Given the description of an element on the screen output the (x, y) to click on. 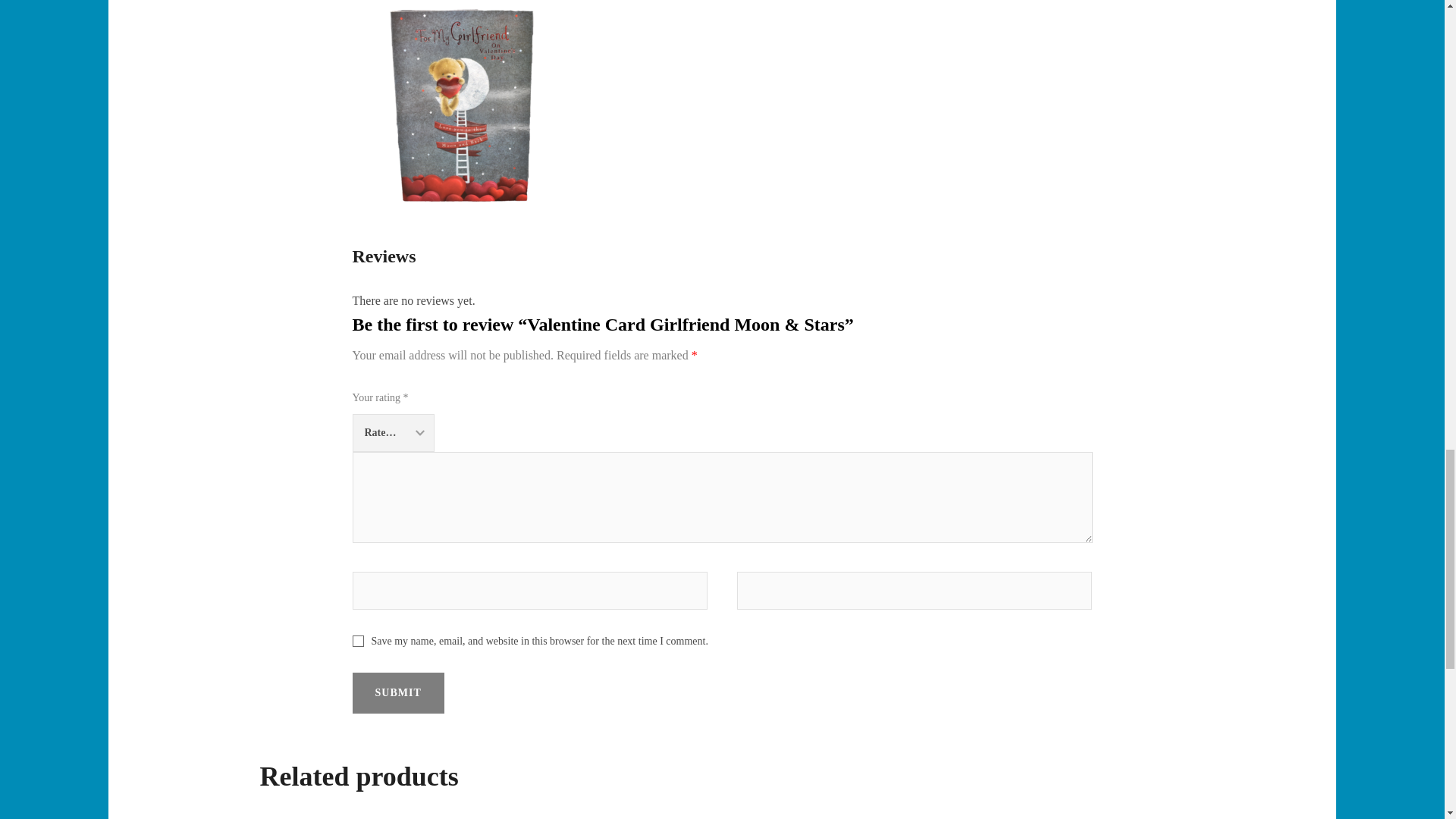
Submit (398, 692)
